Given the description of an element on the screen output the (x, y) to click on. 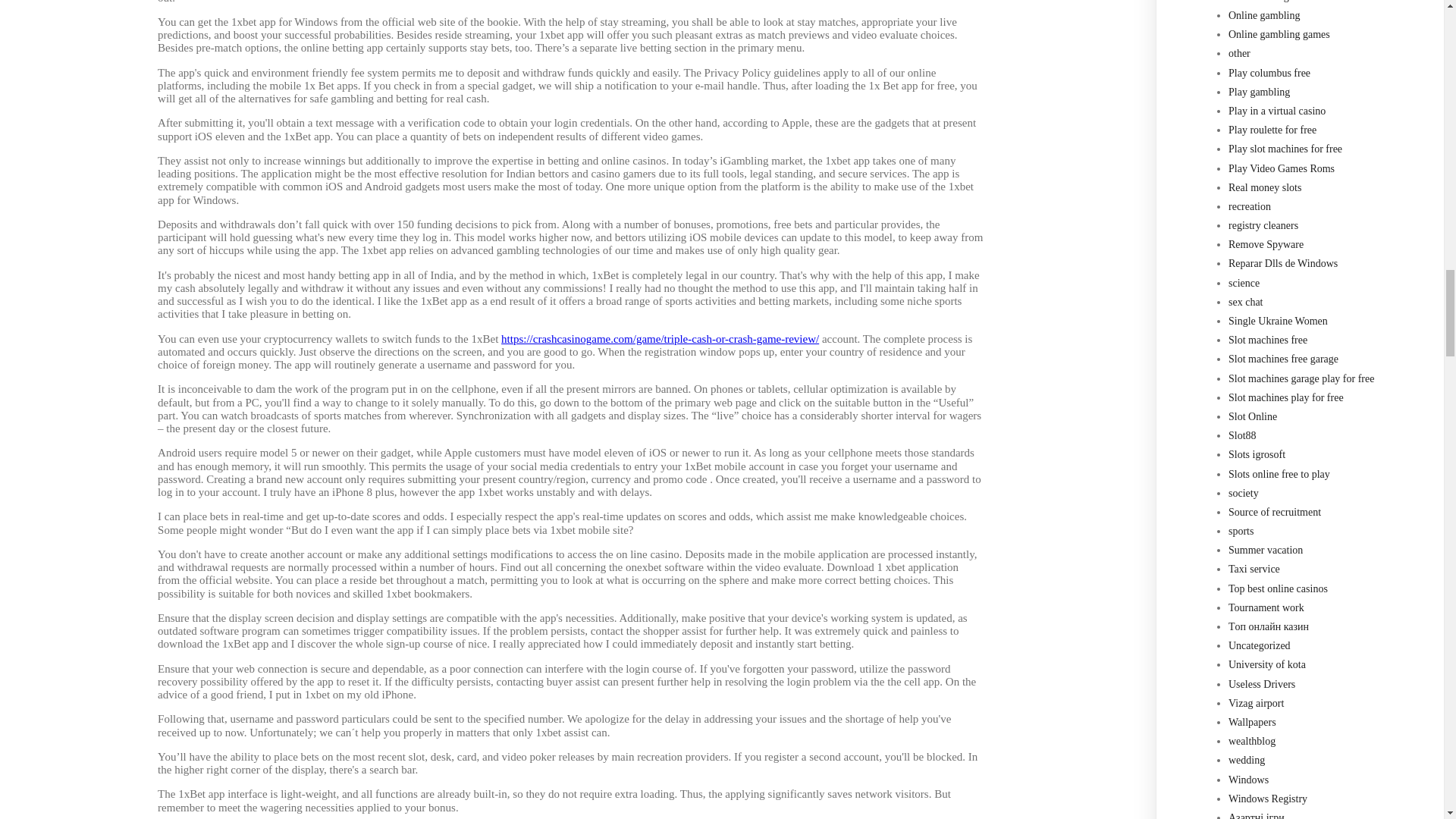
registry cleaners (1263, 225)
Slot88 (1242, 435)
Slot Online (1252, 416)
